Given the description of an element on the screen output the (x, y) to click on. 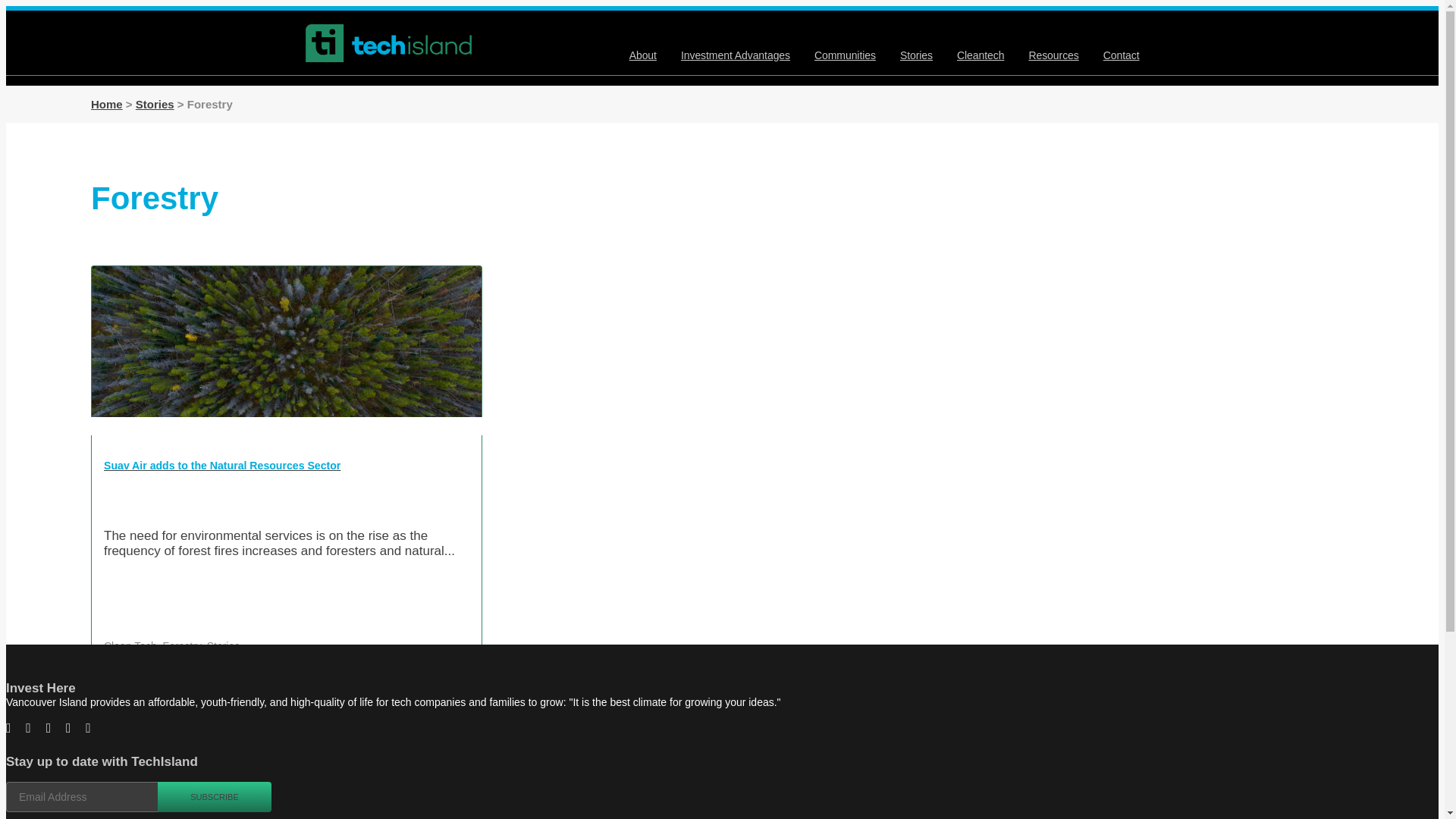
Home (106, 103)
Investment Advantages (735, 55)
About (642, 55)
SUBSCRIBE (213, 797)
Contact (1121, 55)
Cleantech (980, 55)
Communities (844, 55)
Resources (1052, 55)
Stories (154, 103)
Suav Air adds to the Natural Resources Sector (286, 472)
Stories (916, 55)
